Given the description of an element on the screen output the (x, y) to click on. 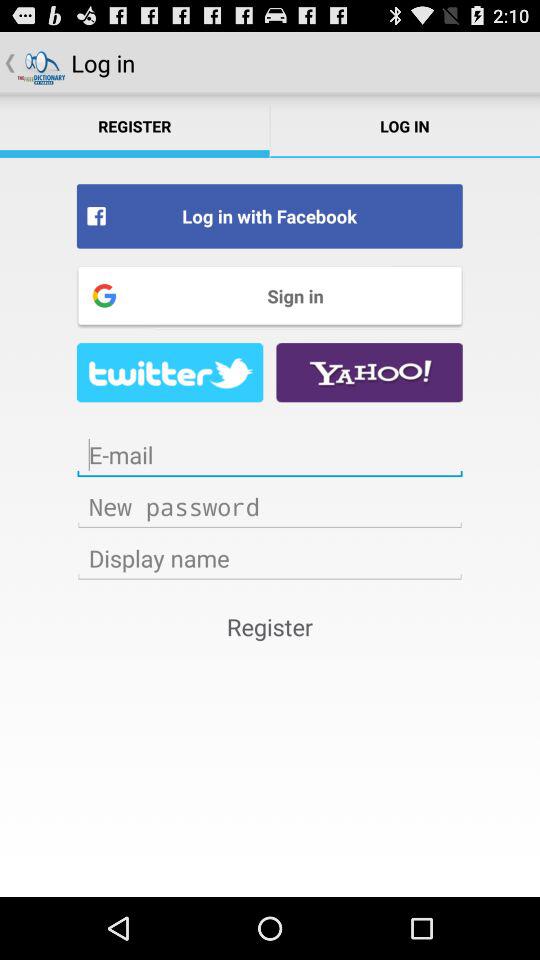
choose a password (269, 506)
